Given the description of an element on the screen output the (x, y) to click on. 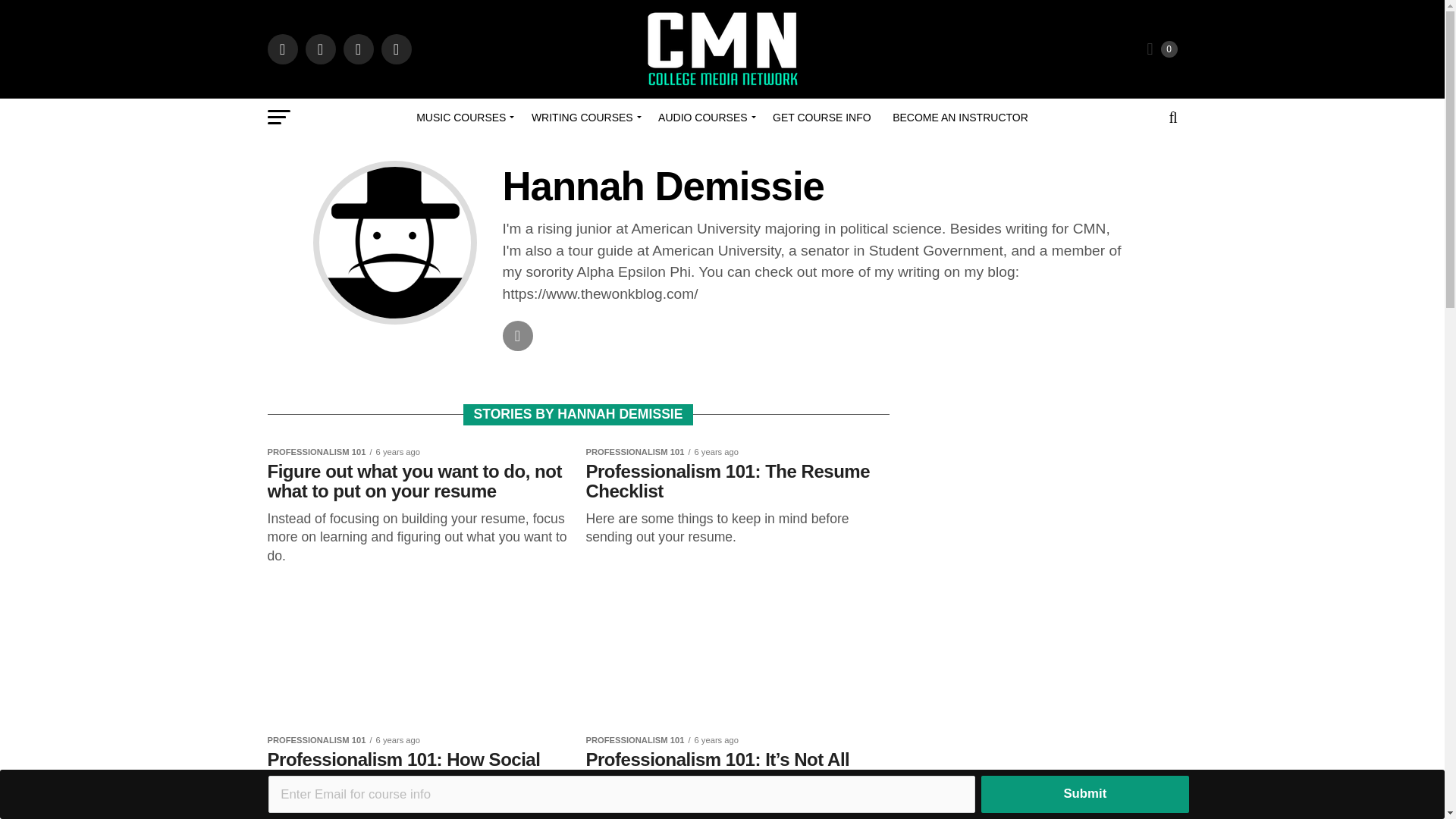
BECOME AN INSTRUCTOR (959, 117)
MUSIC COURSES (462, 117)
GET COURSE INFO (821, 117)
WRITING COURSES (584, 117)
AUDIO COURSES (704, 117)
